Given the description of an element on the screen output the (x, y) to click on. 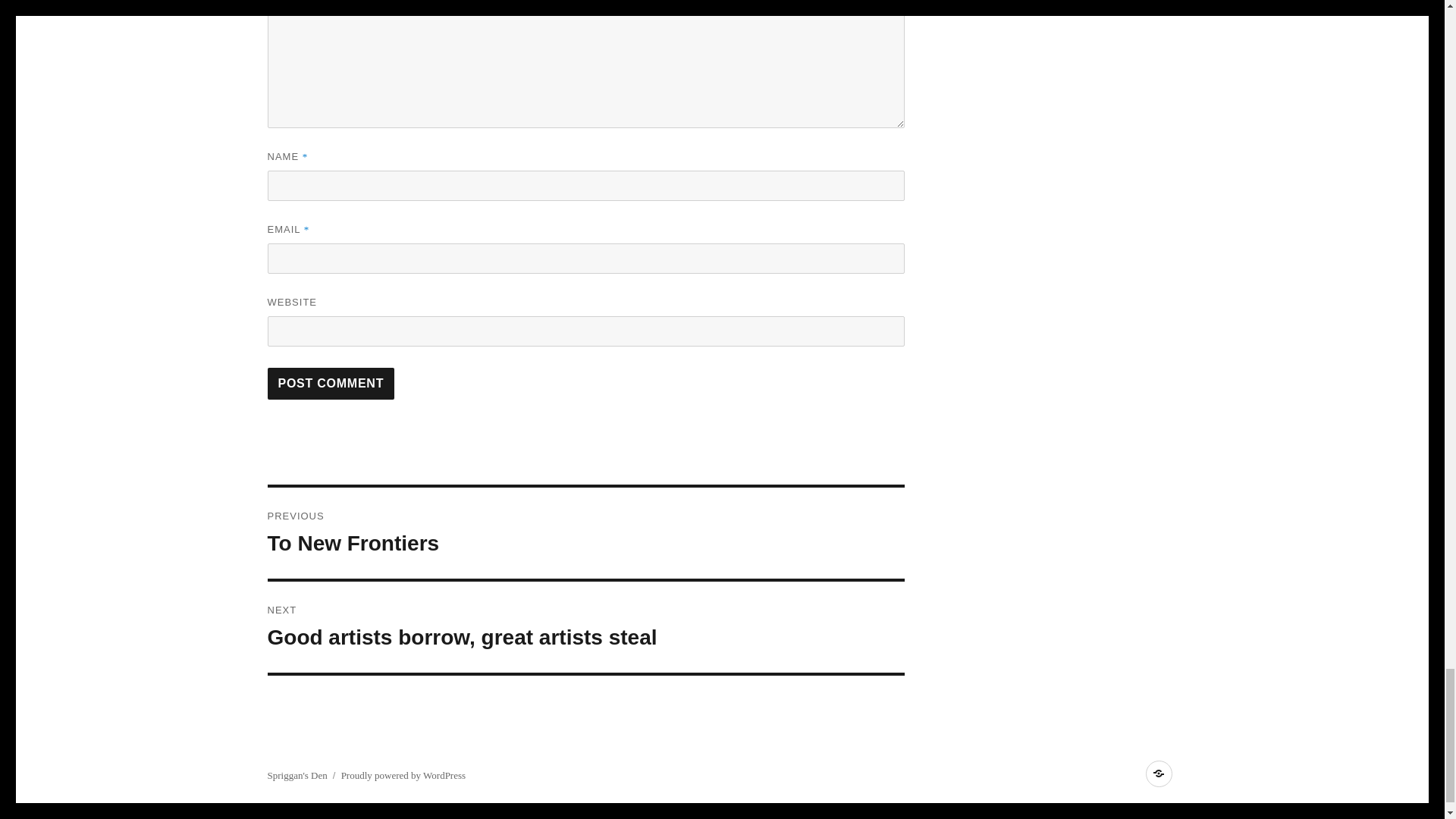
Post Comment (330, 383)
Post Comment (585, 626)
